Given the description of an element on the screen output the (x, y) to click on. 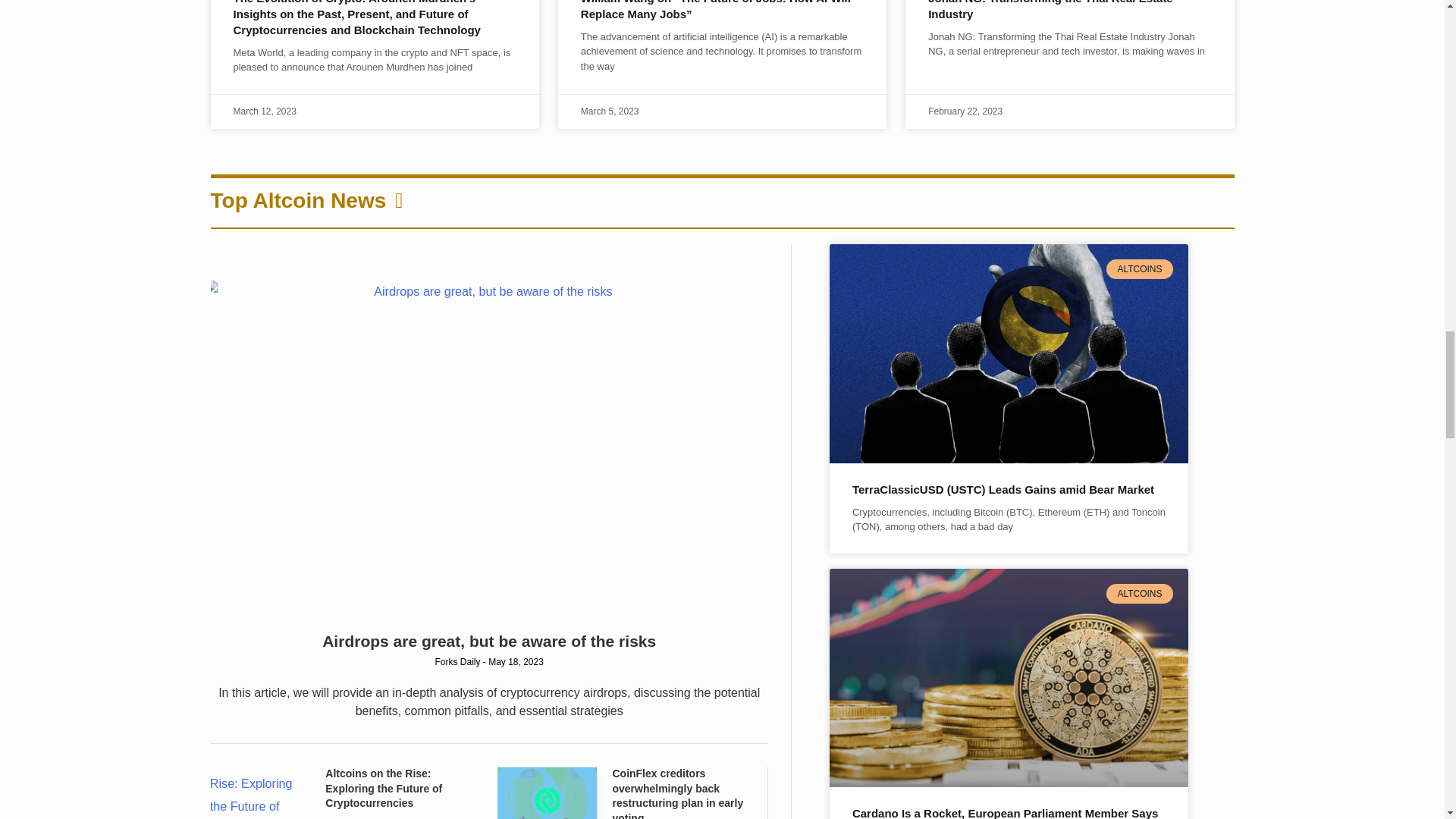
Forksdaily 16 (718, 16)
